Given the description of an element on the screen output the (x, y) to click on. 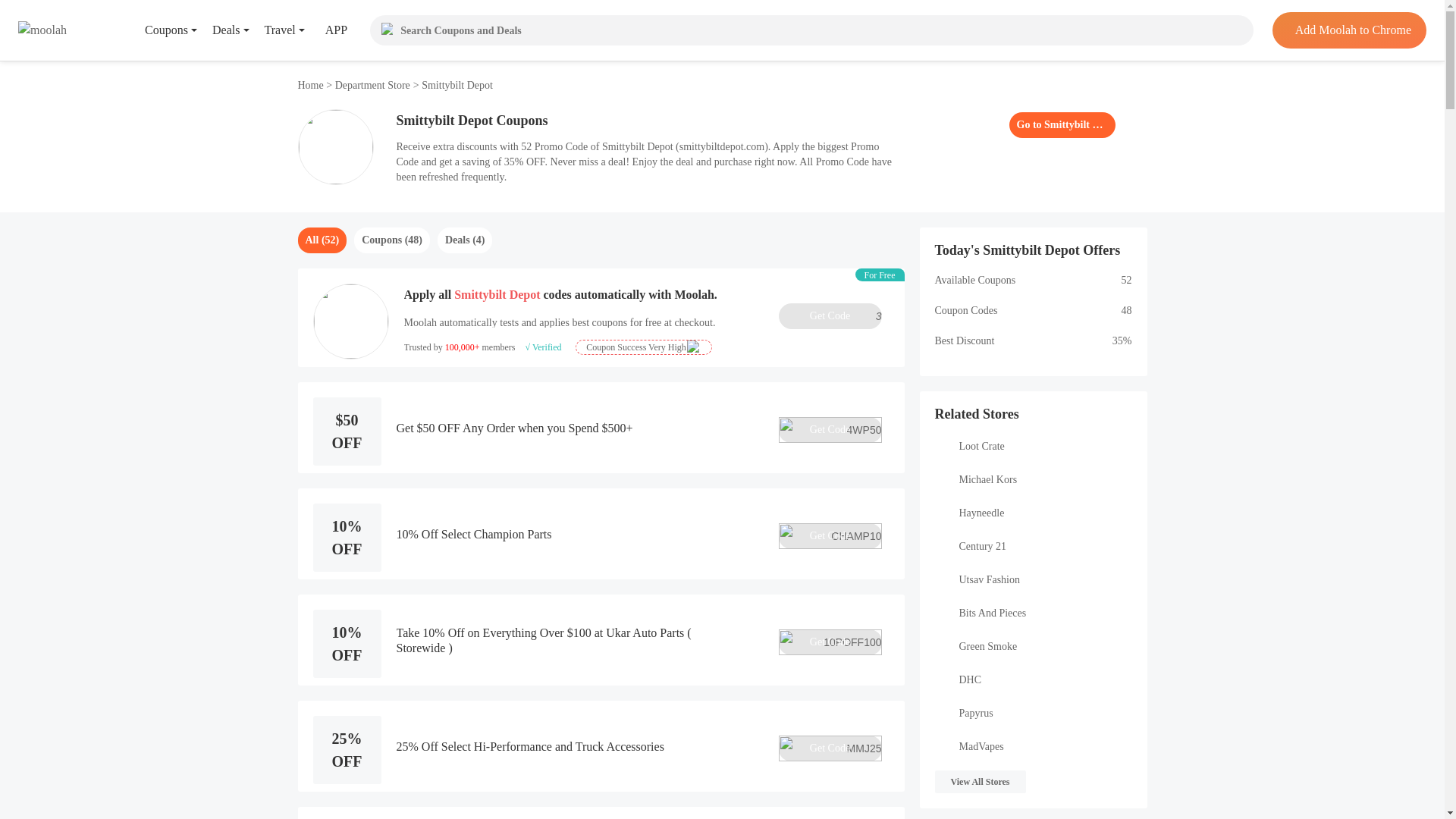
Add Moolah to Chrome (1348, 30)
Go to Smittybilt Depot (1061, 125)
APP (324, 30)
Home (311, 84)
Department Store (372, 84)
